Given the description of an element on the screen output the (x, y) to click on. 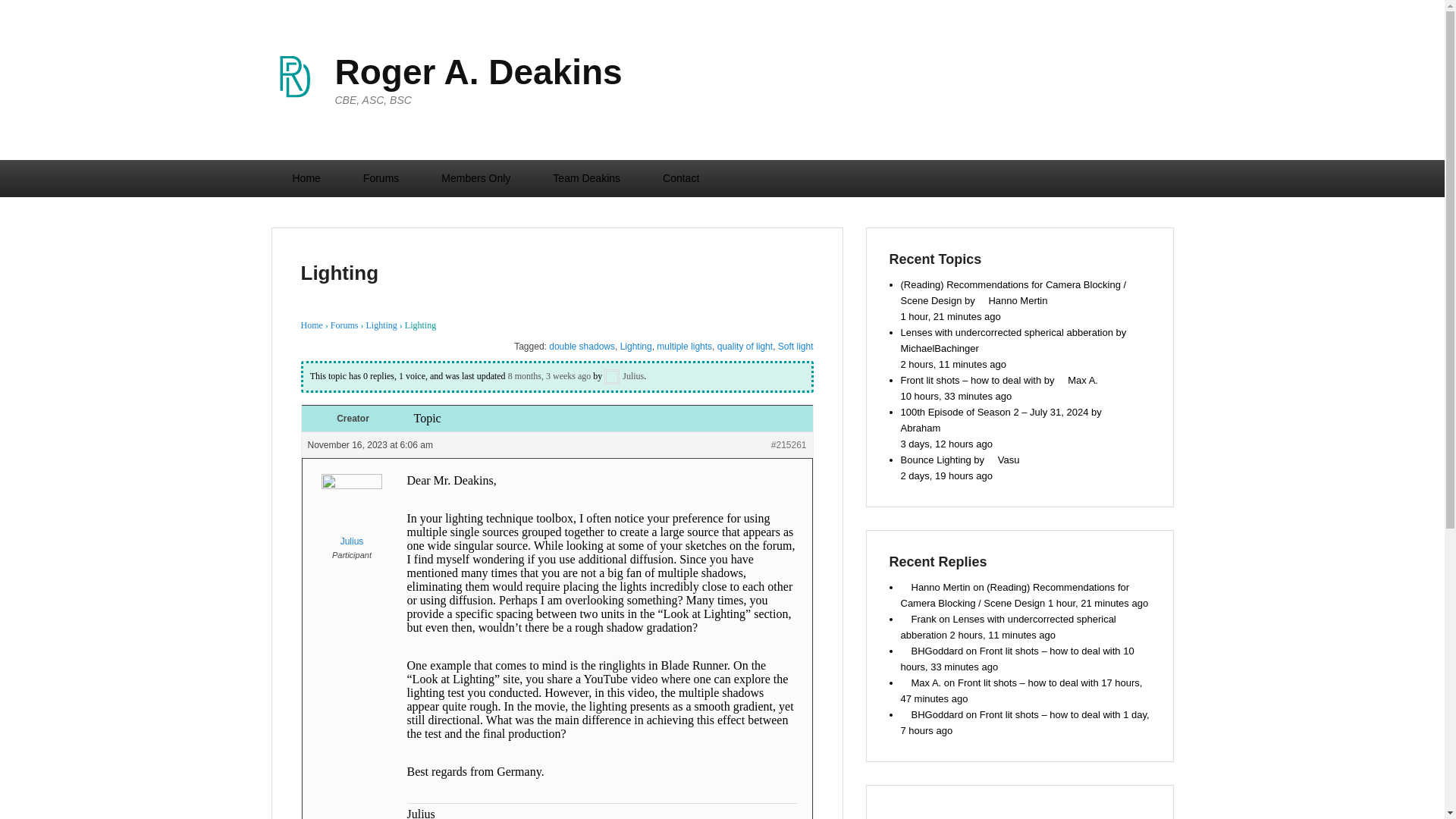
View MichaelBachinger's profile (1020, 339)
View Hanno Mertin's profile (936, 586)
Lighting (549, 376)
View BHGoddard's profile (932, 650)
View Max A.'s profile (1077, 379)
Roger A. Deakins (478, 71)
Roger A. Deakins (478, 71)
View Vasu's profile (1003, 460)
Members Only (475, 178)
View Julius's profile (350, 513)
View Hanno Mertin's profile (1011, 300)
Home (306, 178)
View Frank's profile (918, 618)
View Julius's profile (623, 376)
Permalink to Lighting (338, 272)
